Given the description of an element on the screen output the (x, y) to click on. 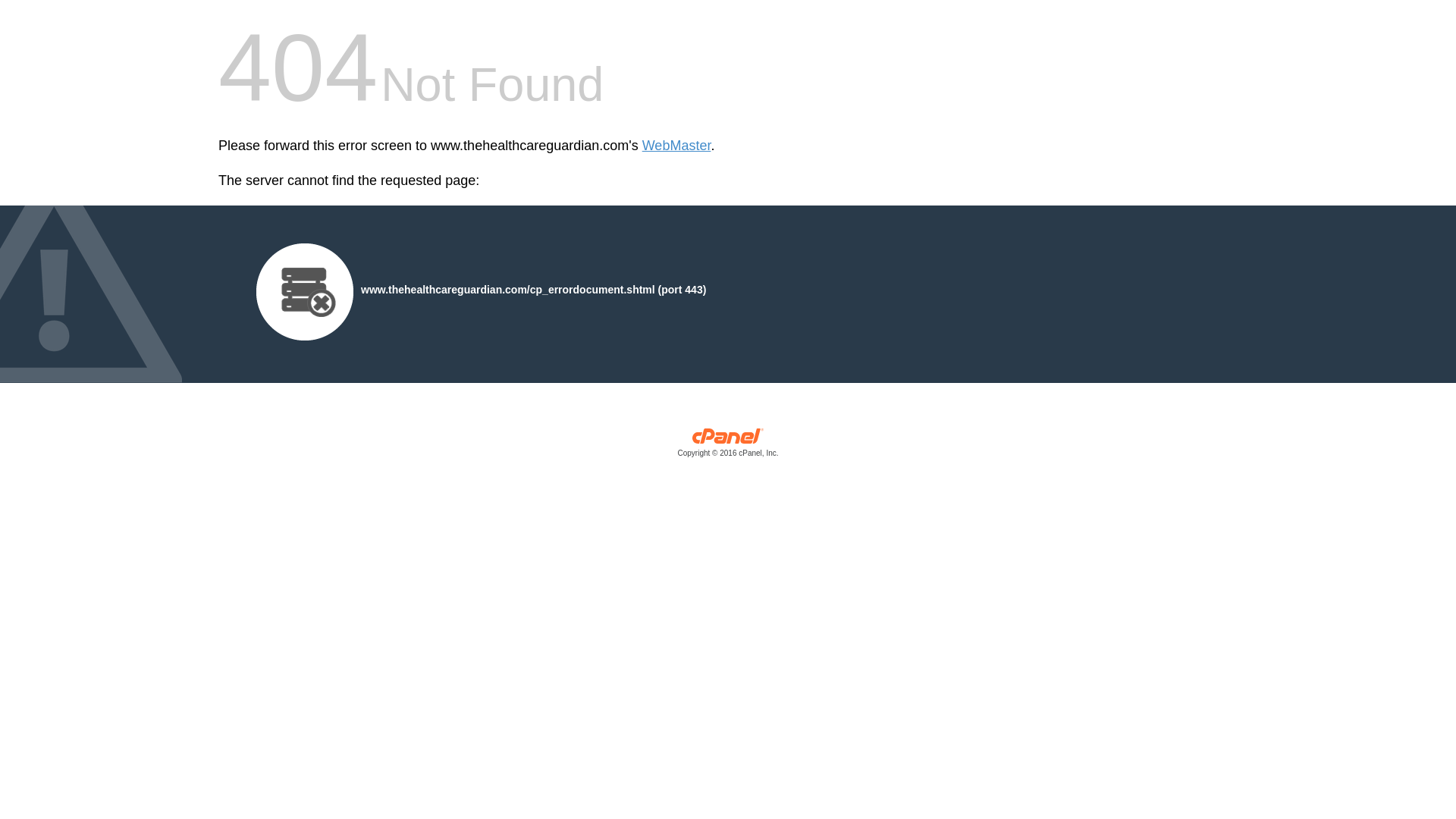
cPanel, Inc. (727, 446)
WebMaster (676, 145)
